Given the description of an element on the screen output the (x, y) to click on. 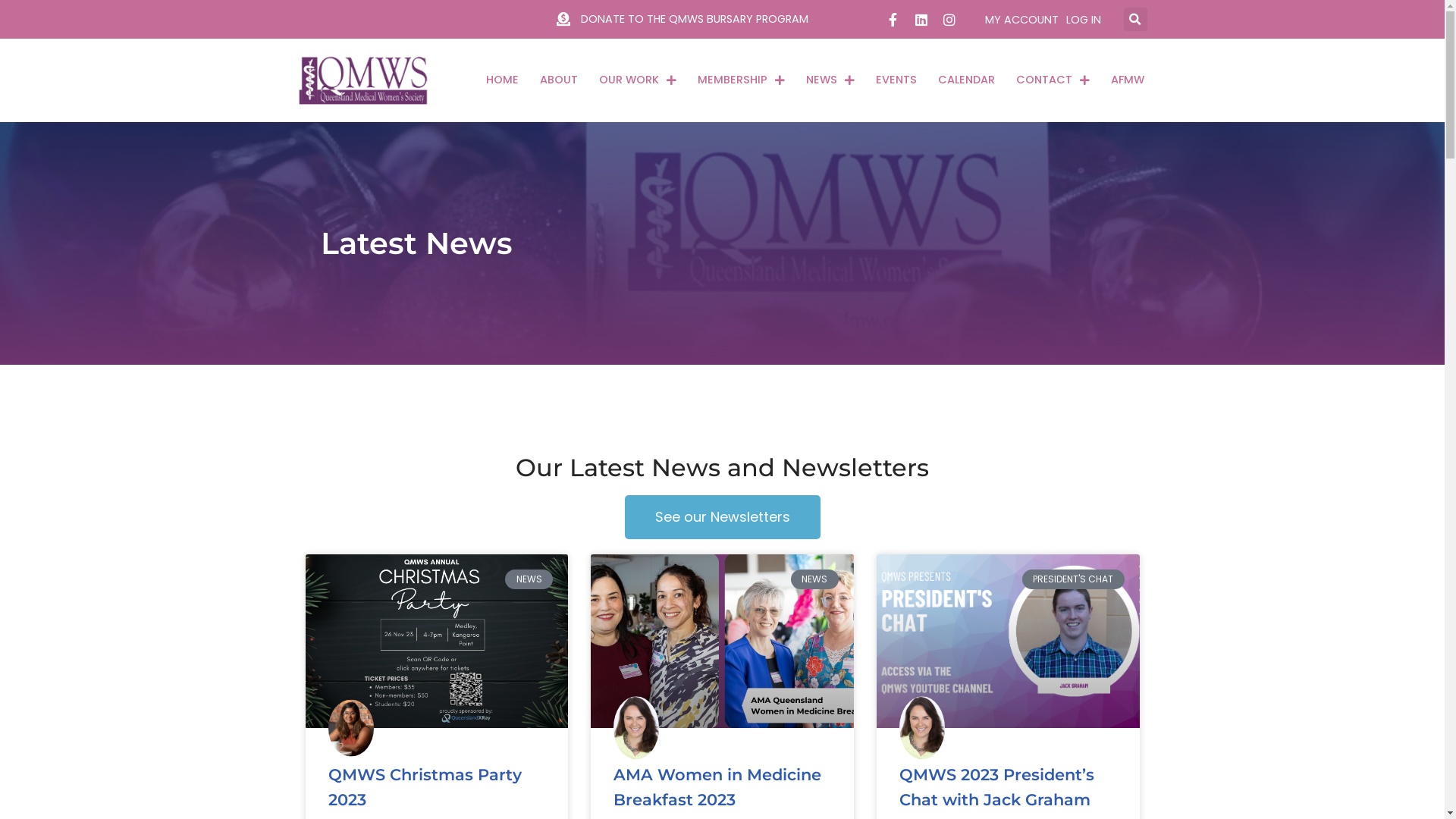
EVENTS Element type: text (895, 79)
HOME Element type: text (502, 79)
AFMW Element type: text (1127, 79)
DONATE TO THE QMWS BURSARY PROGRAM Element type: text (682, 19)
LOG IN Element type: text (1083, 19)
See our Newsletters Element type: text (722, 517)
Skip to content Element type: text (11, 31)
OUR WORK Element type: text (637, 79)
MEMBERSHIP Element type: text (740, 79)
AMA Women in Medicine Breakfast 2023 Element type: text (717, 787)
MY ACCOUNT Element type: text (1020, 19)
ABOUT Element type: text (558, 79)
CALENDAR Element type: text (966, 79)
CONTACT Element type: text (1052, 79)
NEWS Element type: text (830, 79)
QMWS Christmas Party 2023 Element type: text (423, 787)
